Given the description of an element on the screen output the (x, y) to click on. 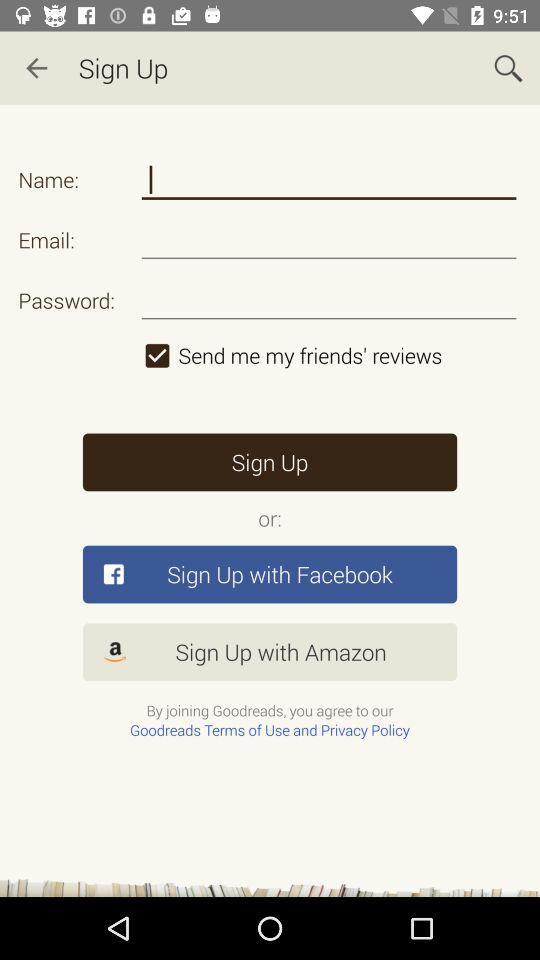
email address (328, 240)
